Given the description of an element on the screen output the (x, y) to click on. 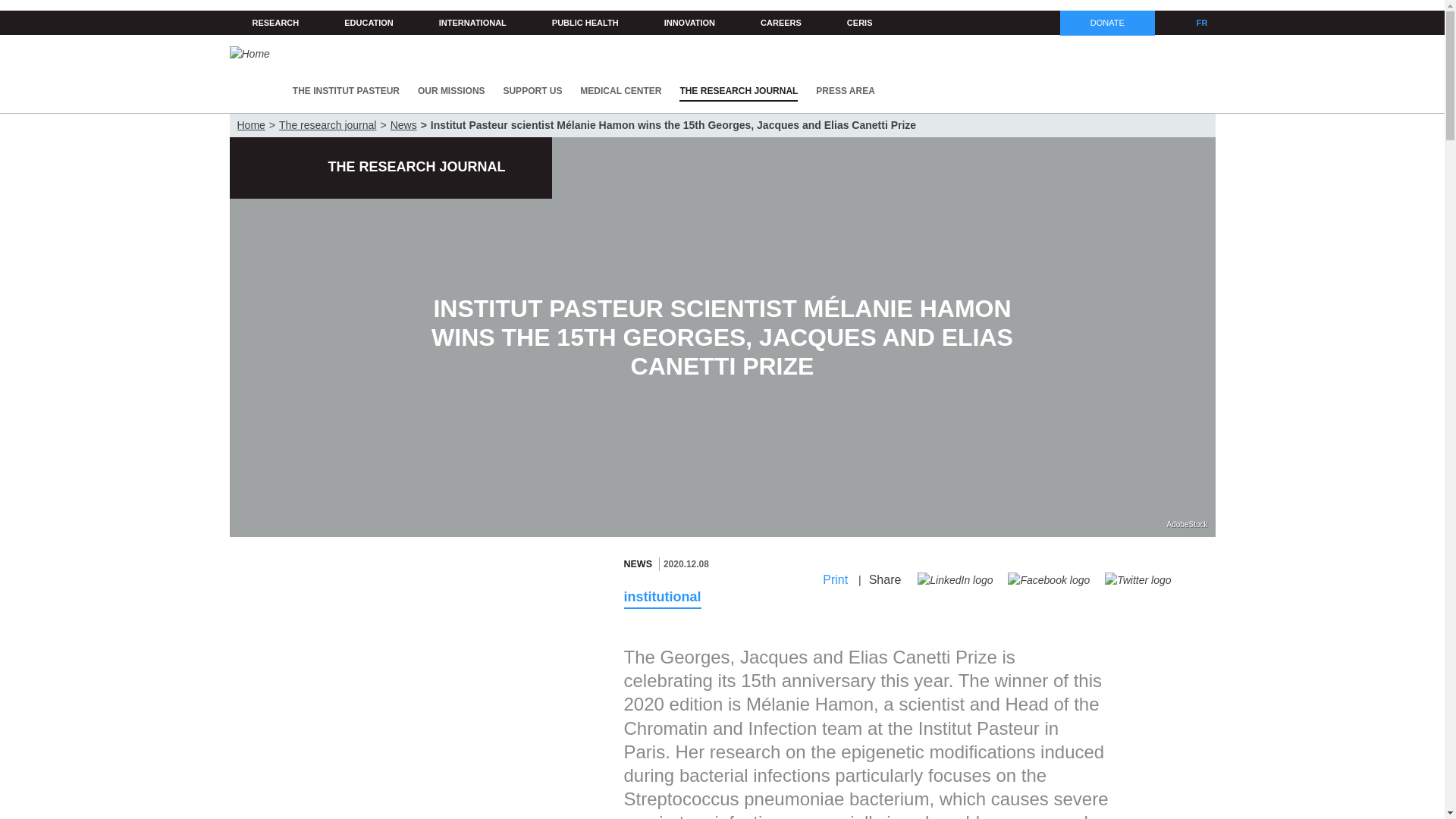
Partager sur Facebook (1048, 580)
Home (248, 53)
Publier cet article sur LinkedIn. (954, 580)
Partager sur Twitter (1137, 580)
